Given the description of an element on the screen output the (x, y) to click on. 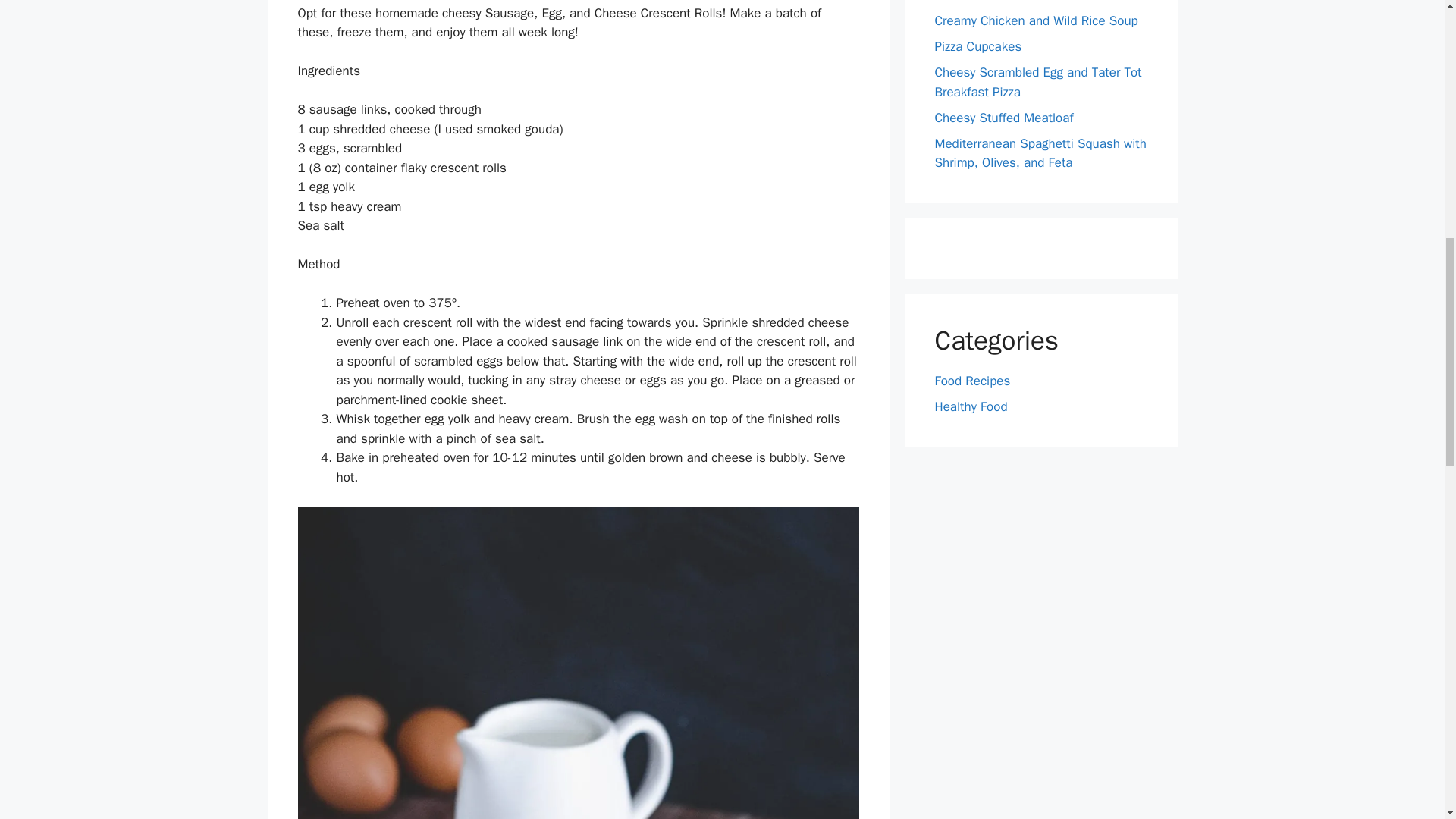
Mediterranean Spaghetti Squash with Shrimp, Olives, and Feta (1039, 152)
Cheesy Stuffed Meatloaf (1003, 116)
Creamy Chicken and Wild Rice Soup (1035, 20)
Pizza Cupcakes (978, 46)
Cheesy Scrambled Egg and Tater Tot Breakfast Pizza (1037, 81)
Food Recipes (972, 381)
Healthy Food (970, 406)
